Given the description of an element on the screen output the (x, y) to click on. 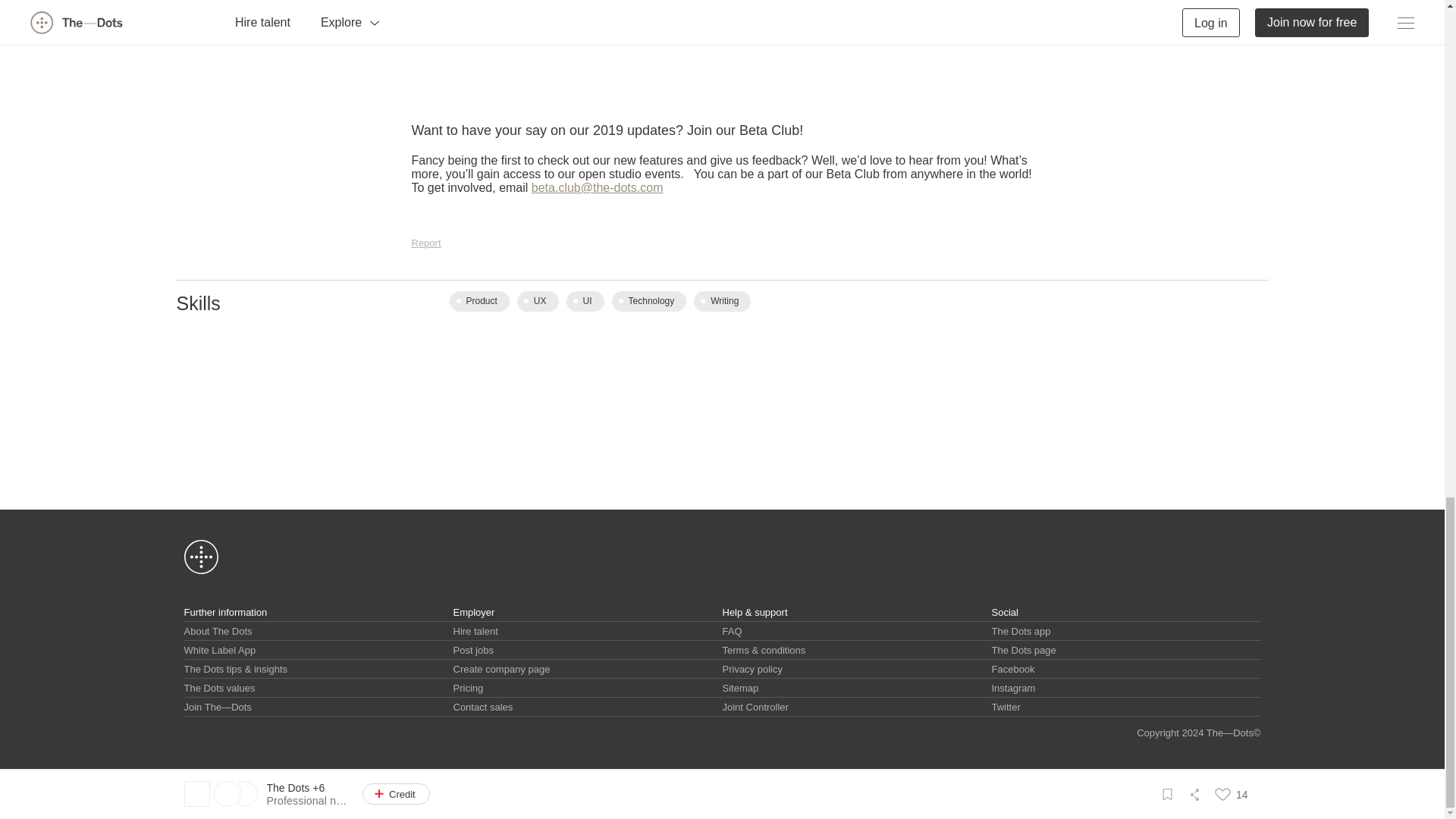
Report (425, 242)
UX (537, 301)
Product (478, 301)
Technology (649, 301)
UI (585, 301)
Writing (722, 301)
